Given the description of an element on the screen output the (x, y) to click on. 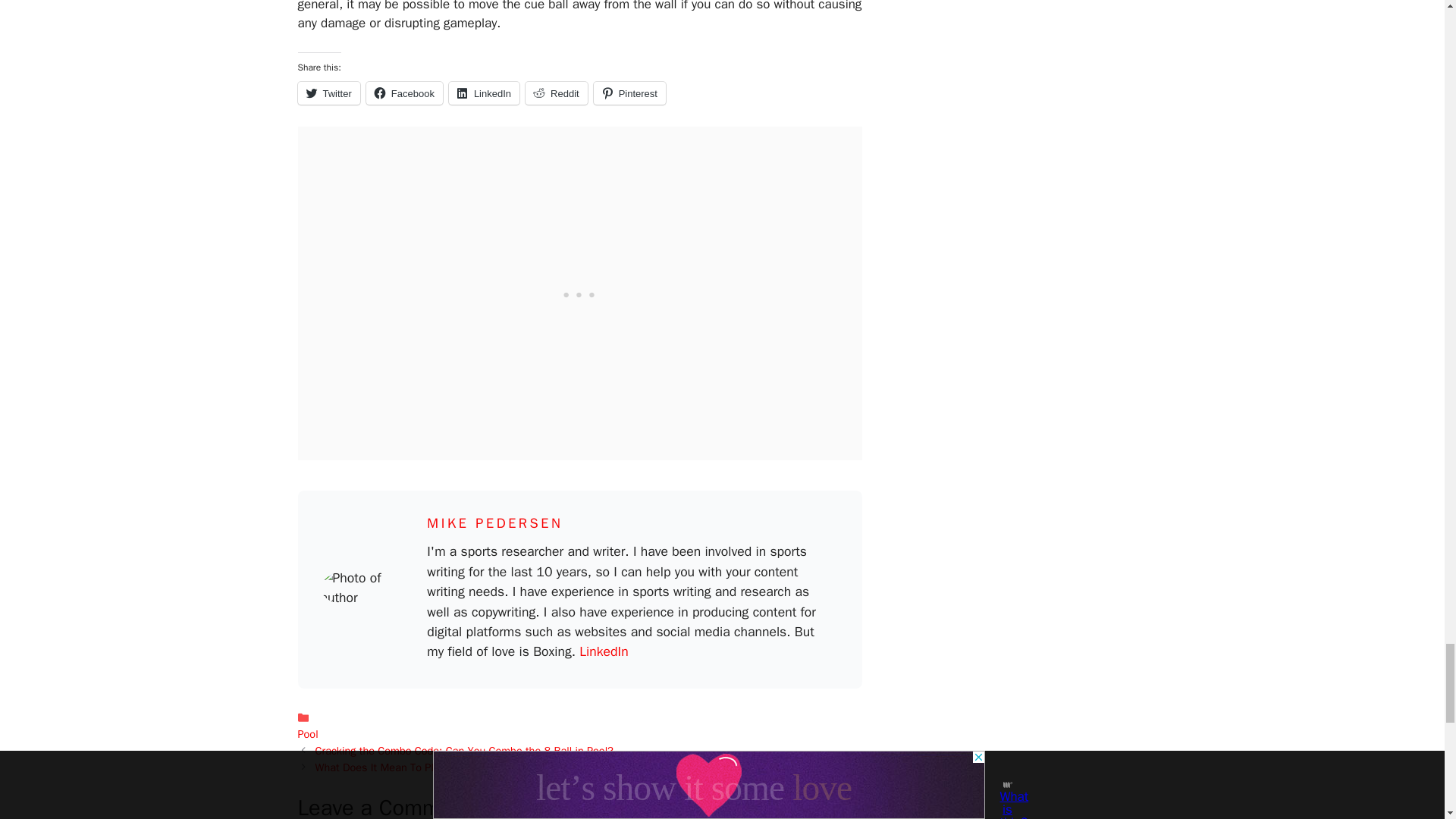
Facebook (404, 92)
Click to share on Reddit (556, 92)
Categories (579, 726)
Click to share on Pinterest (629, 92)
LinkedIn (483, 92)
What Does It Mean To Place In Horse Racing? (425, 766)
Click to share on LinkedIn (483, 92)
Pinterest (629, 92)
Twitter (328, 92)
Cracking the Combo Code: Can You Combo the 8 Ball in Pool? (463, 750)
Click to share on Twitter (328, 92)
Reddit (556, 92)
MIKE PEDERSEN (494, 523)
Pool (307, 734)
Click to share on Facebook (404, 92)
